Given the description of an element on the screen output the (x, y) to click on. 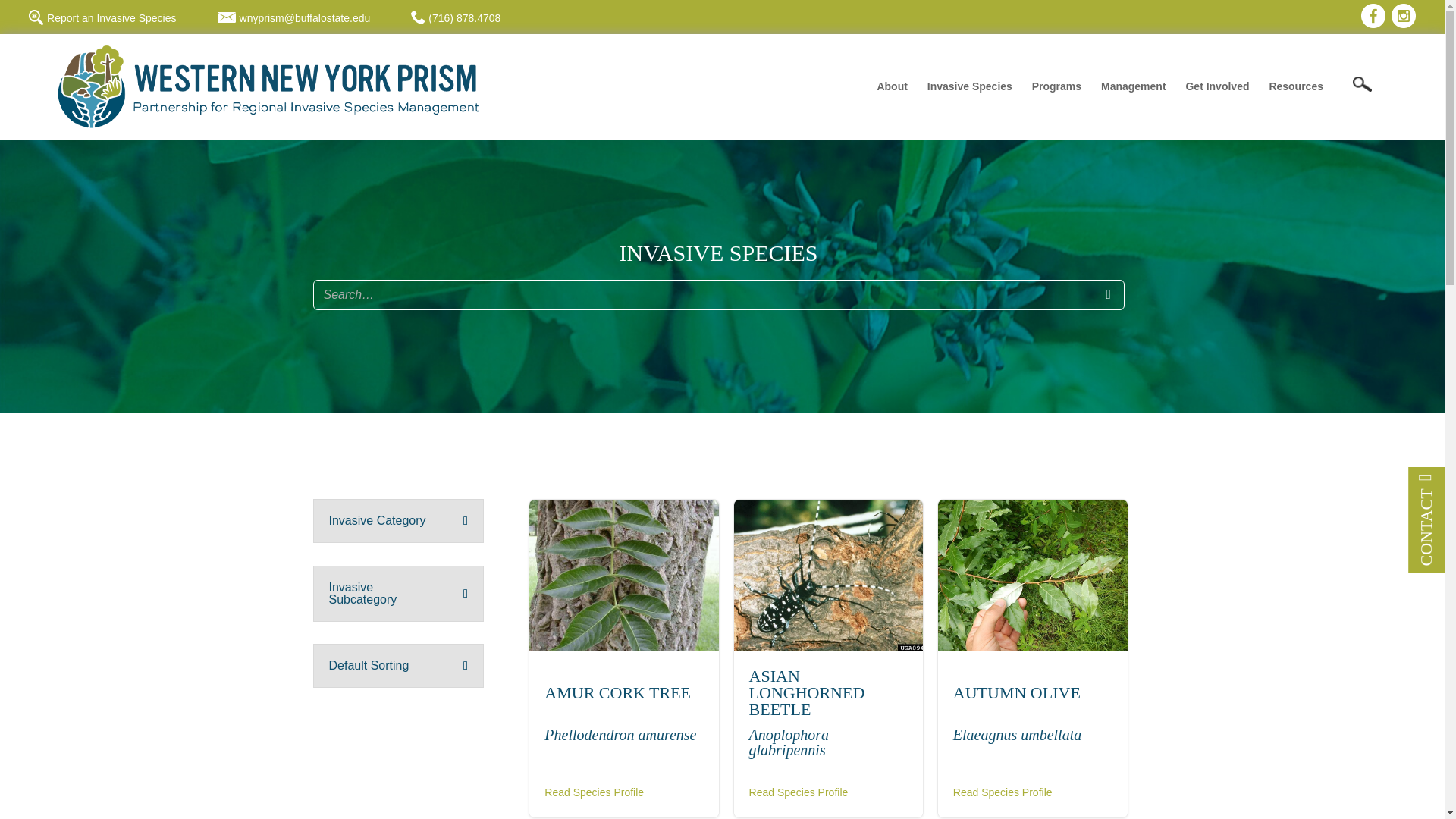
Report an Invasive Species (102, 18)
About (891, 99)
Management (1133, 99)
Programs (1056, 99)
Invasive Species (969, 99)
